Given the description of an element on the screen output the (x, y) to click on. 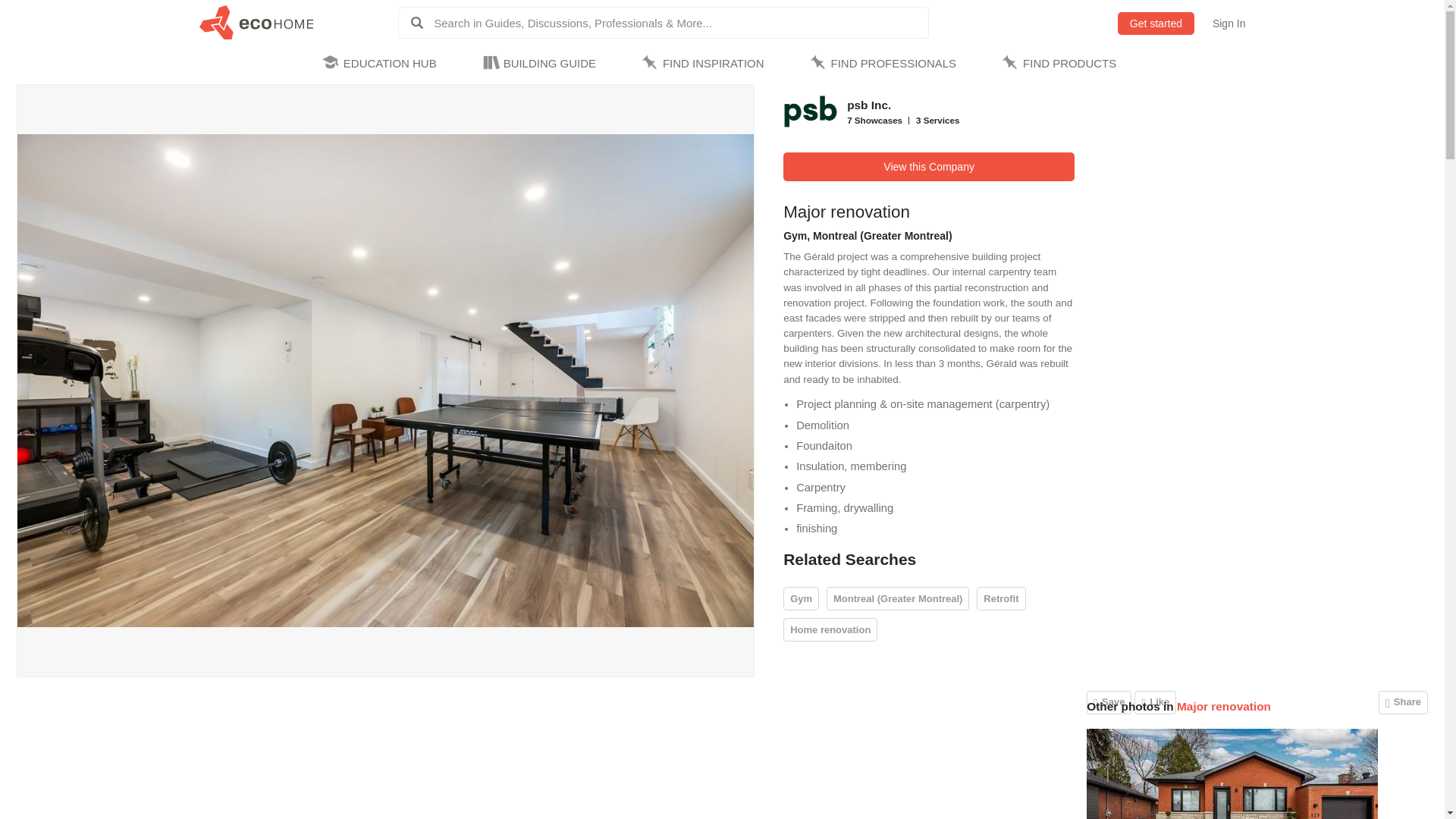
Sign In (1229, 23)
Search Retrofit (1000, 598)
Get started (1155, 23)
BUILDING GUIDE (542, 63)
Search Home renovation (830, 629)
EDUCATION HUB (382, 63)
